Given the description of an element on the screen output the (x, y) to click on. 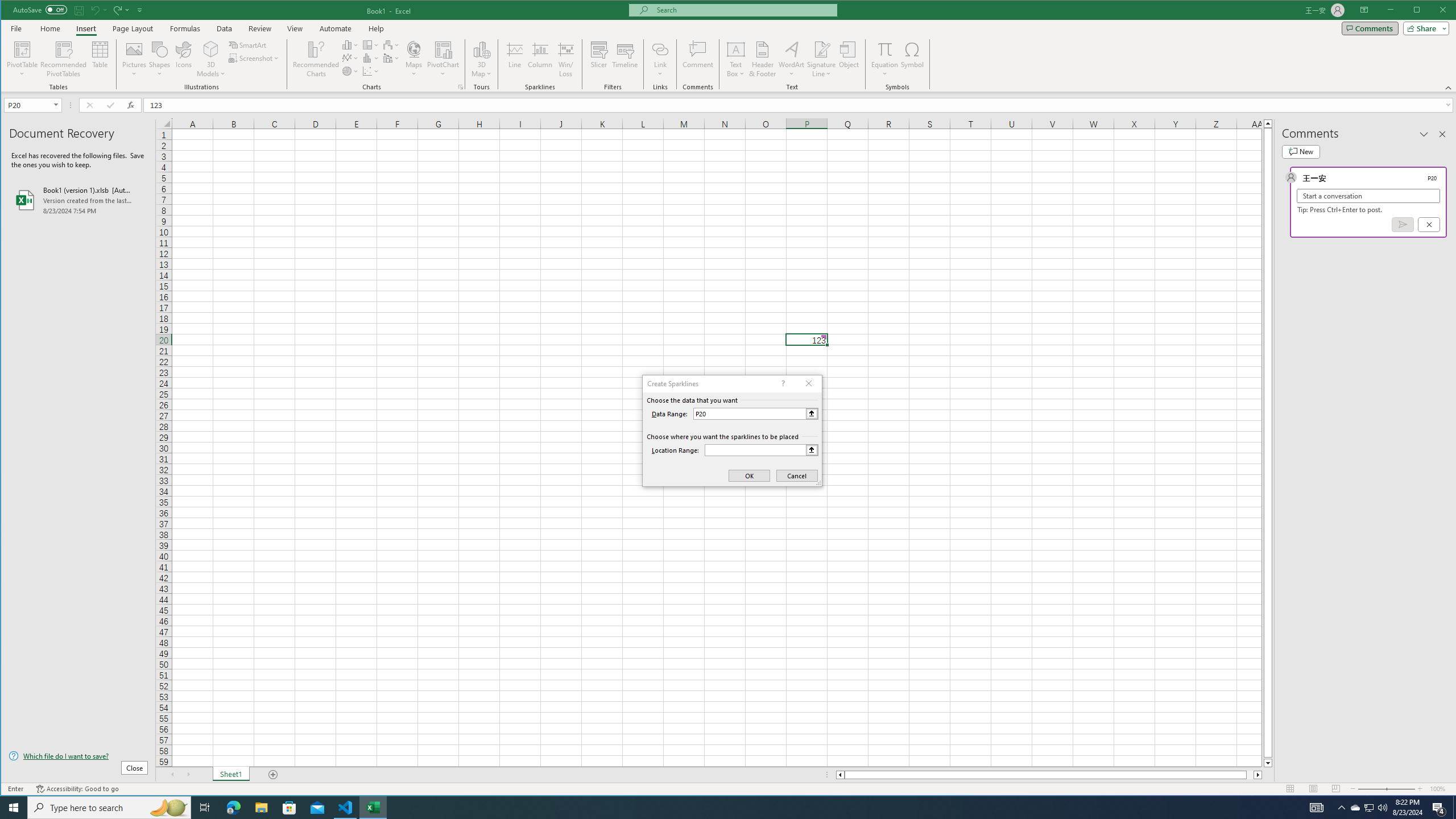
Insert Statistic Chart (371, 57)
3D Models (211, 48)
Draw Horizontal Text Box (735, 48)
3D Models (211, 59)
Shapes (159, 59)
Symbol... (912, 59)
Signature Line (821, 48)
